Given the description of an element on the screen output the (x, y) to click on. 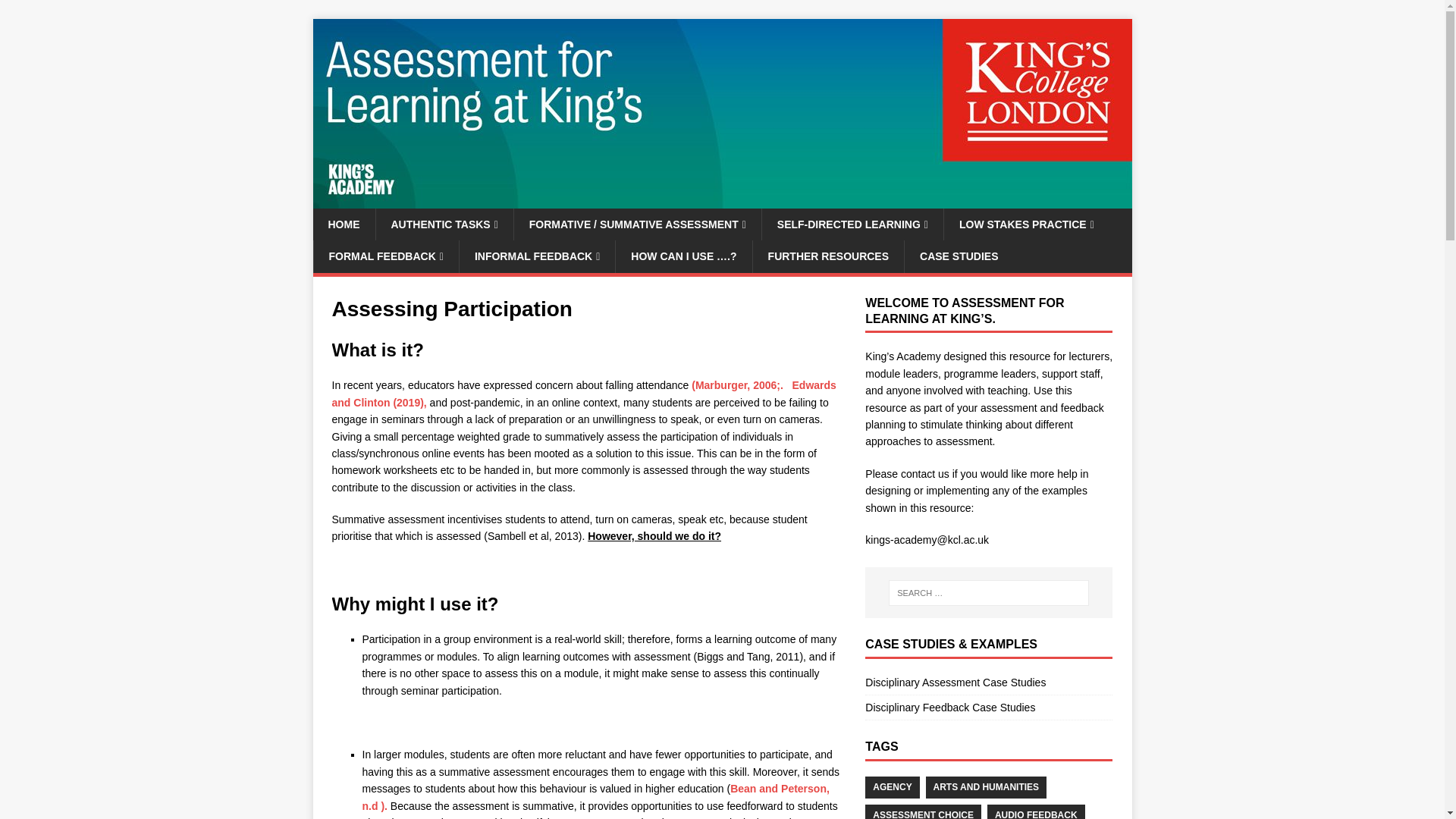
Assessment for Learning at King's (722, 200)
